Given the description of an element on the screen output the (x, y) to click on. 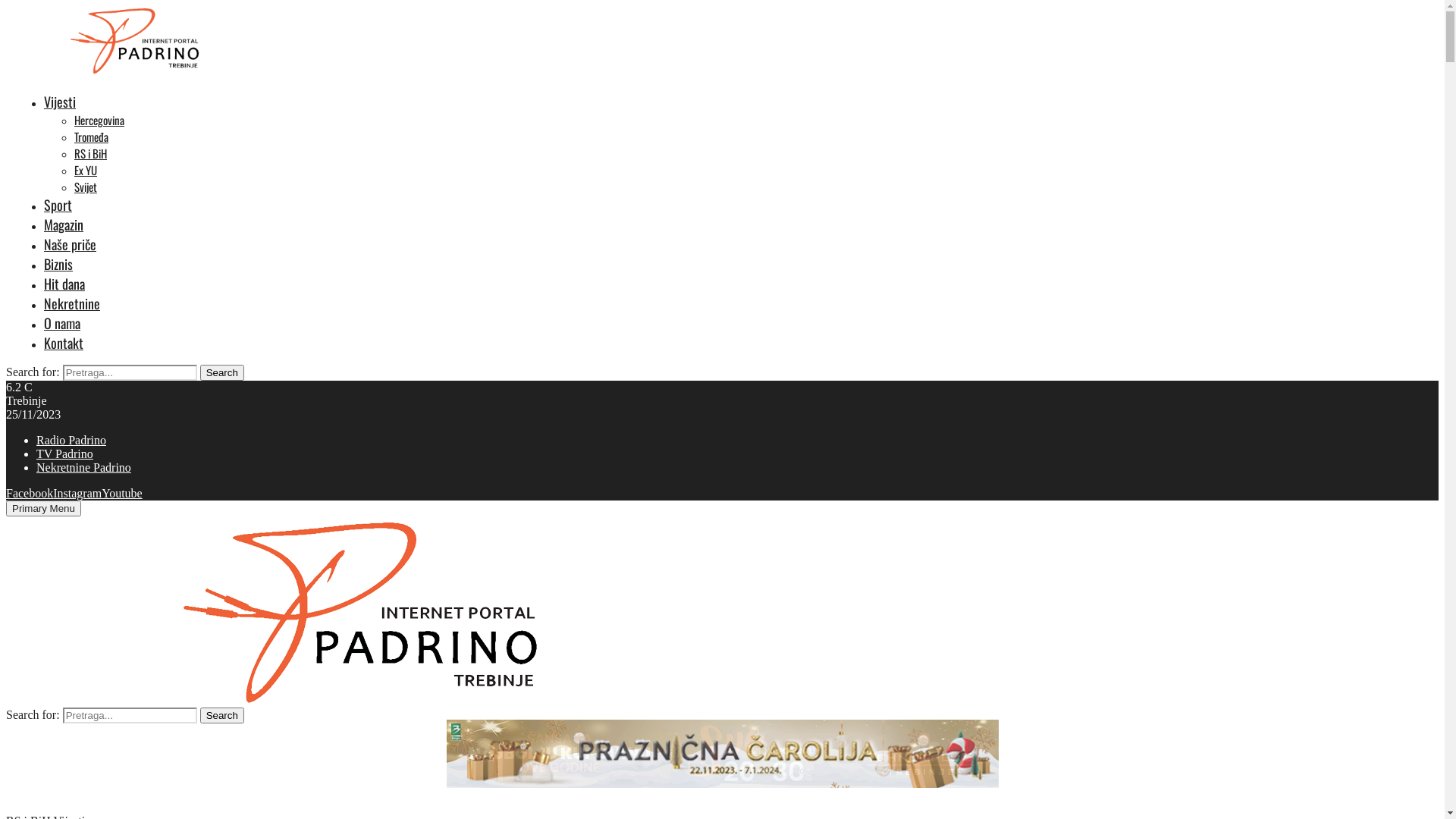
Biznis Element type: text (57, 263)
Youtube Element type: text (121, 492)
Radio Padrino Element type: text (71, 439)
Hercegovina Element type: text (99, 119)
Magazin Element type: text (63, 224)
Vijesti Element type: text (59, 101)
Facebook Element type: text (29, 492)
Nekretnine Element type: text (71, 303)
TV Padrino Element type: text (64, 453)
Search Element type: text (222, 715)
Primary Menu Element type: text (43, 508)
Sport Element type: text (57, 204)
popusti Element type: hover (721, 753)
O nama Element type: text (61, 322)
RS i BiH Element type: text (90, 152)
Ex YU Element type: text (85, 169)
Search Element type: text (222, 372)
Hit dana Element type: text (63, 283)
Instagram Element type: text (77, 492)
Svijet Element type: text (85, 186)
Nekretnine Padrino Element type: text (83, 467)
Kontakt Element type: text (63, 342)
